Given the description of an element on the screen output the (x, y) to click on. 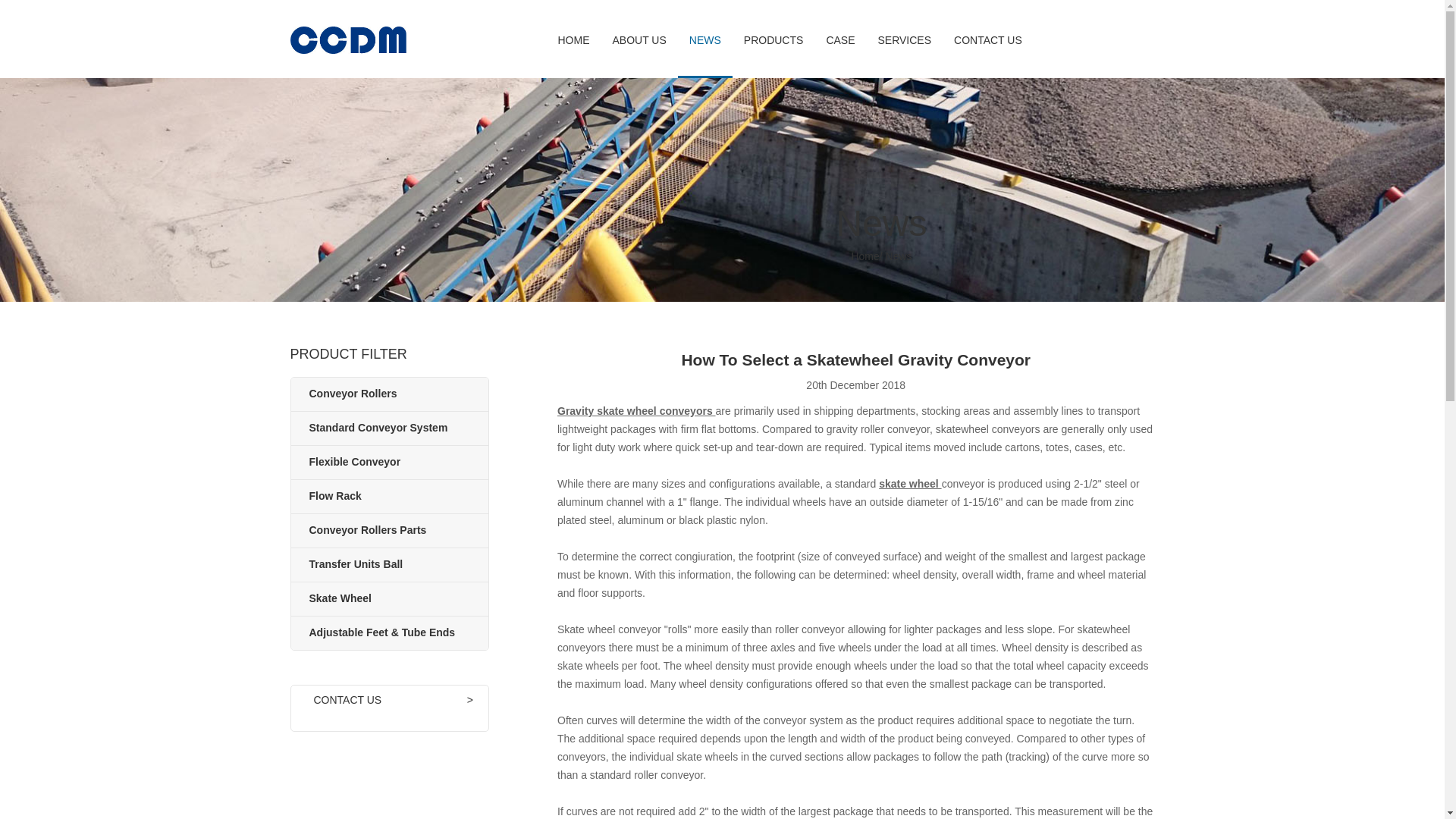
Skate Wheel (339, 598)
PRODUCTS (773, 40)
HOME (572, 40)
Standard Conveyor System (378, 427)
CONTACT US (987, 40)
Conveyor Rollers (352, 393)
SERVICES (904, 40)
ABOUT US (638, 40)
skate wheel (910, 483)
Flow Rack (334, 495)
